Given the description of an element on the screen output the (x, y) to click on. 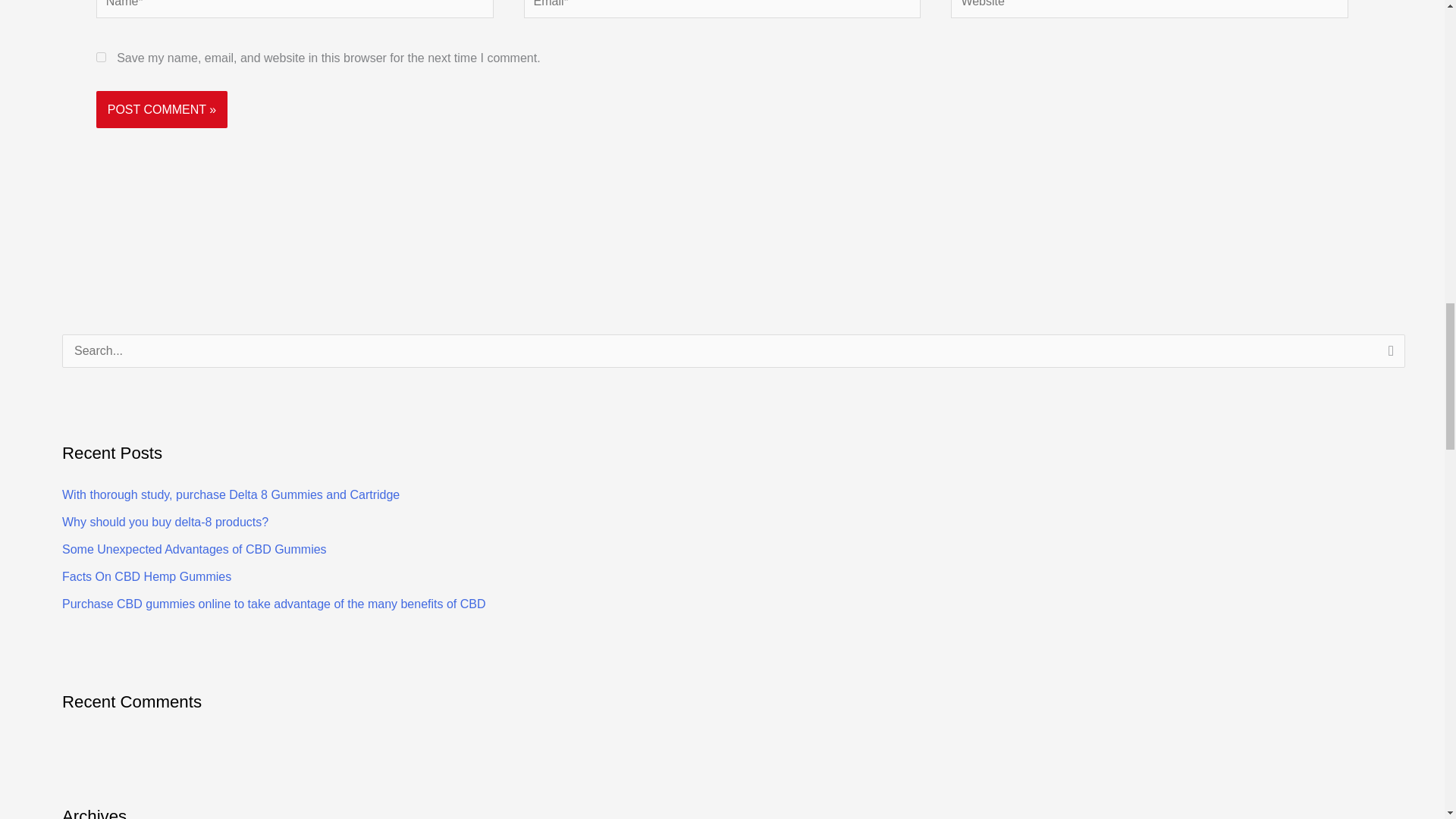
yes (101, 57)
Why should you buy delta-8 products? (164, 521)
With thorough study, purchase Delta 8 Gummies and Cartridge (230, 494)
Some Unexpected Advantages of CBD Gummies (194, 549)
Facts On CBD Hemp Gummies (146, 576)
